Given the description of an element on the screen output the (x, y) to click on. 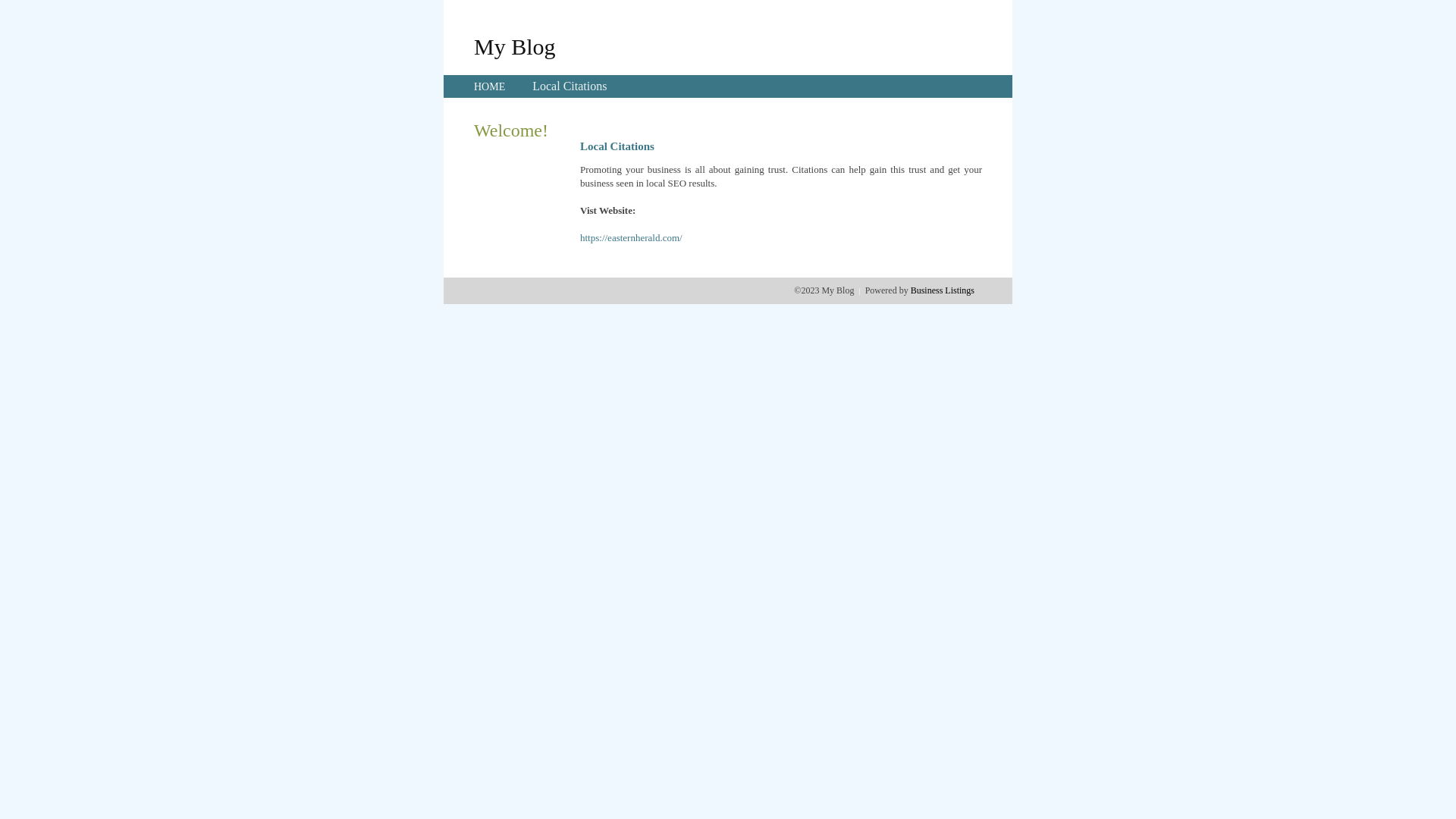
Business Listings Element type: text (942, 290)
Local Citations Element type: text (569, 85)
My Blog Element type: text (514, 46)
HOME Element type: text (489, 86)
https://easternherald.com/ Element type: text (631, 237)
